Given the description of an element on the screen output the (x, y) to click on. 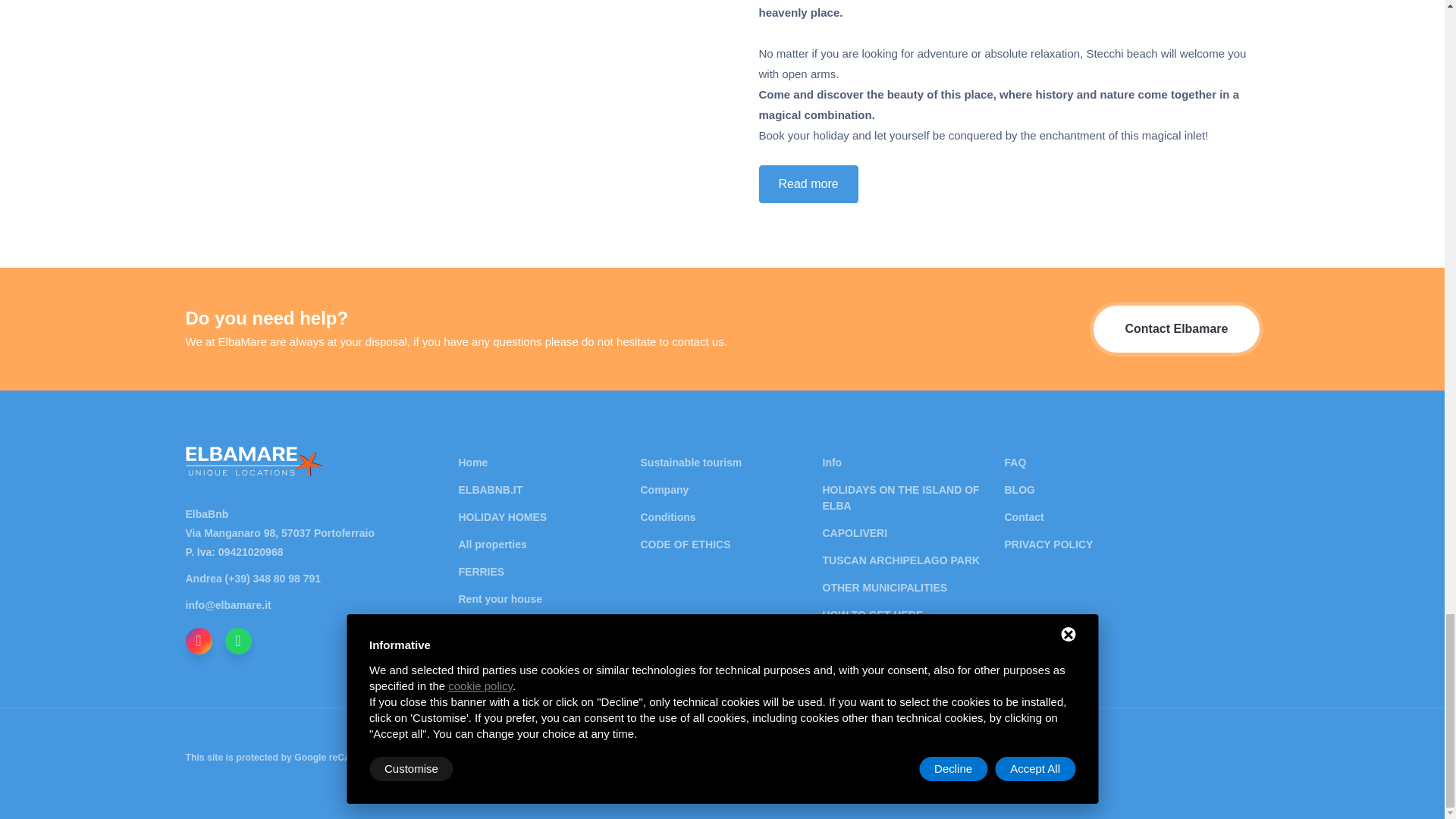
Credit by Deltacommerce (1225, 756)
